Given the description of an element on the screen output the (x, y) to click on. 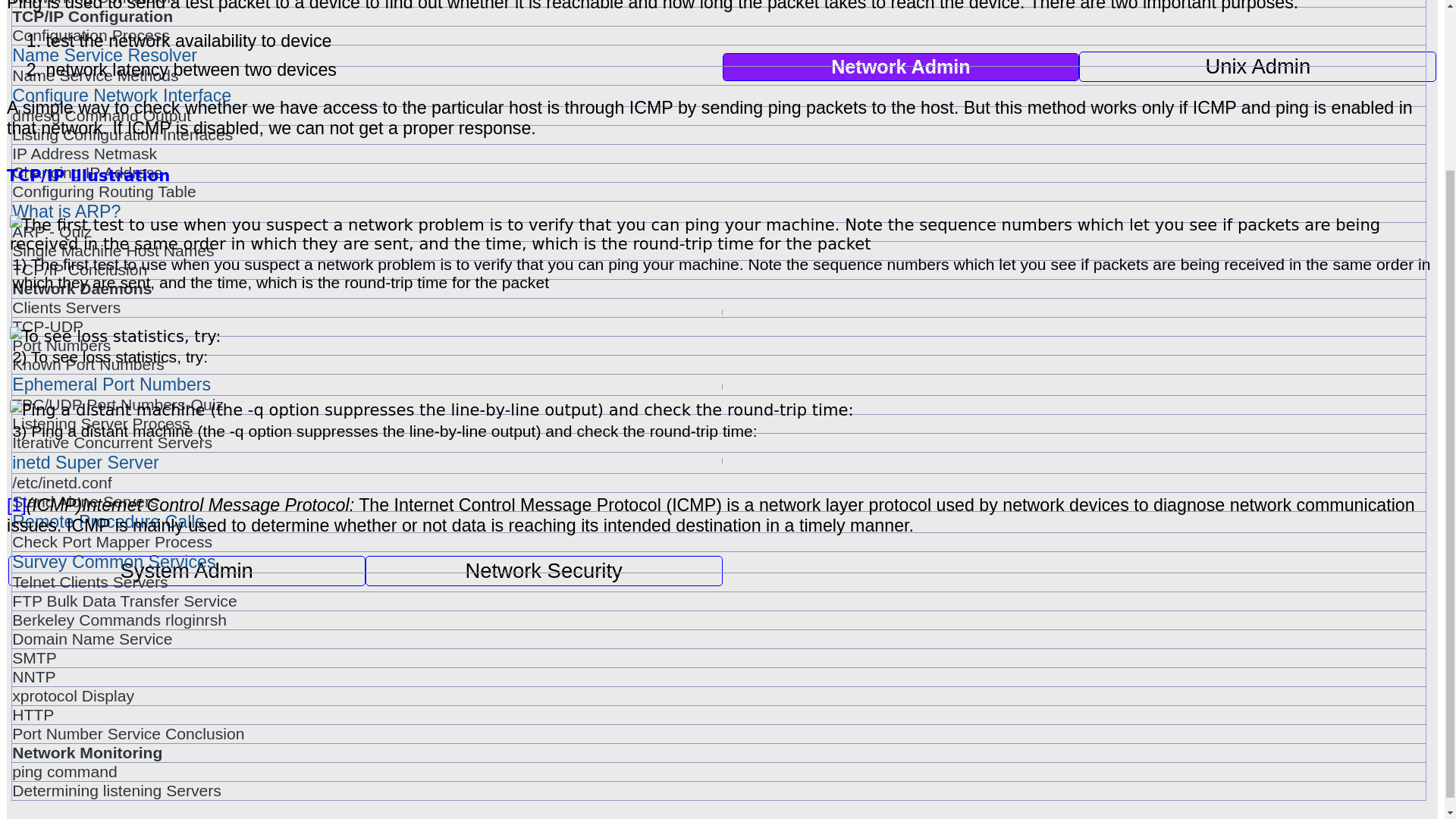
Port Numbers (718, 345)
Configure Network Interface (718, 95)
What is ARP? (718, 211)
IP Address Netmask (718, 153)
Listing Configuration Interfaces (718, 135)
Listening Server Process (718, 423)
Known Port Numbers (718, 364)
TCP-UDP (718, 326)
ARP - Quiz (718, 231)
